Given the description of an element on the screen output the (x, y) to click on. 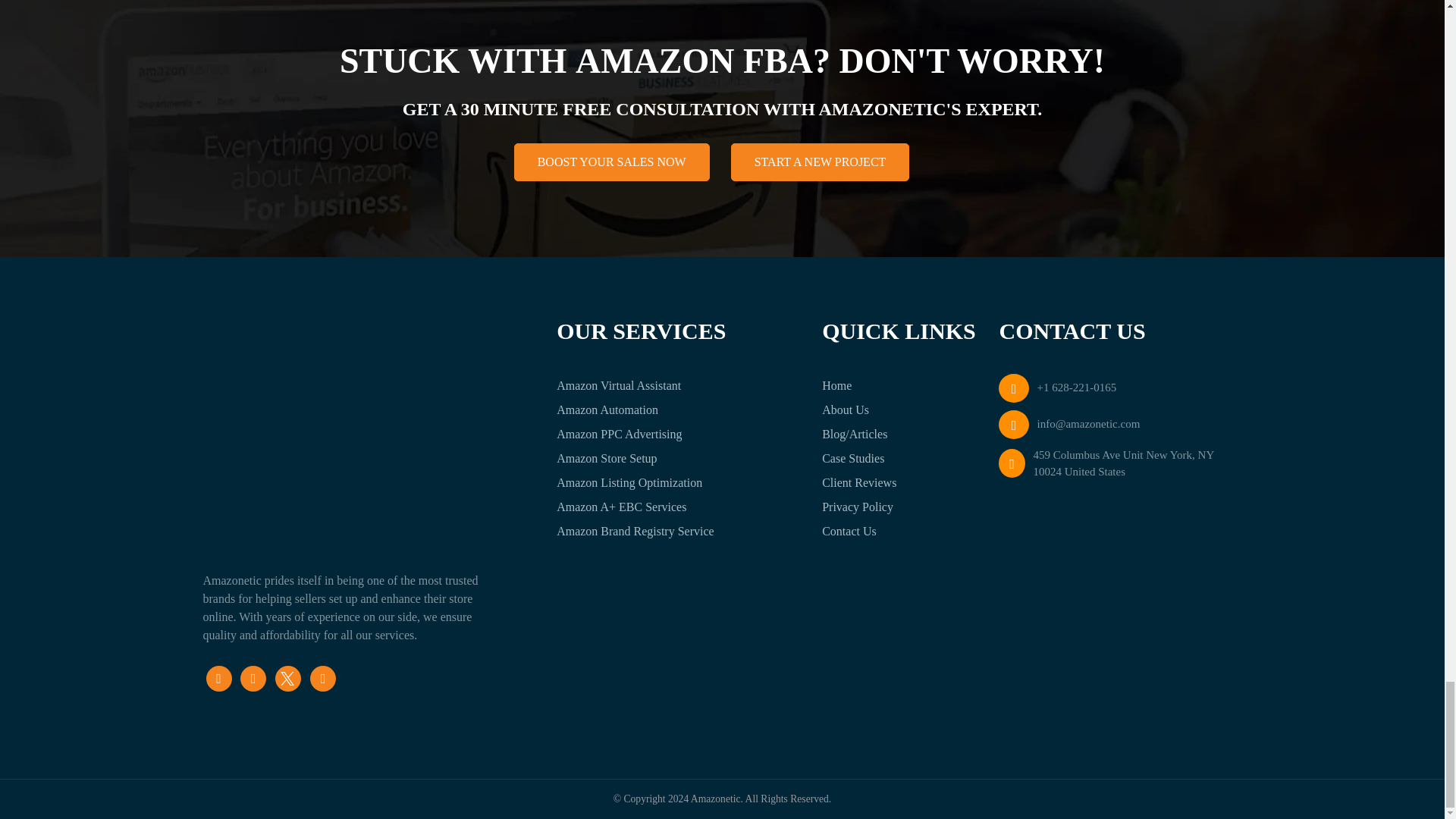
BOOST YOUR SALES NOW (611, 161)
START A NEW PROJECT (820, 161)
Facebook (218, 676)
Instagram (288, 676)
Twitter (253, 676)
STUCK WITH AMAZON FBA? DON'T WORRY! (722, 60)
